Given the description of an element on the screen output the (x, y) to click on. 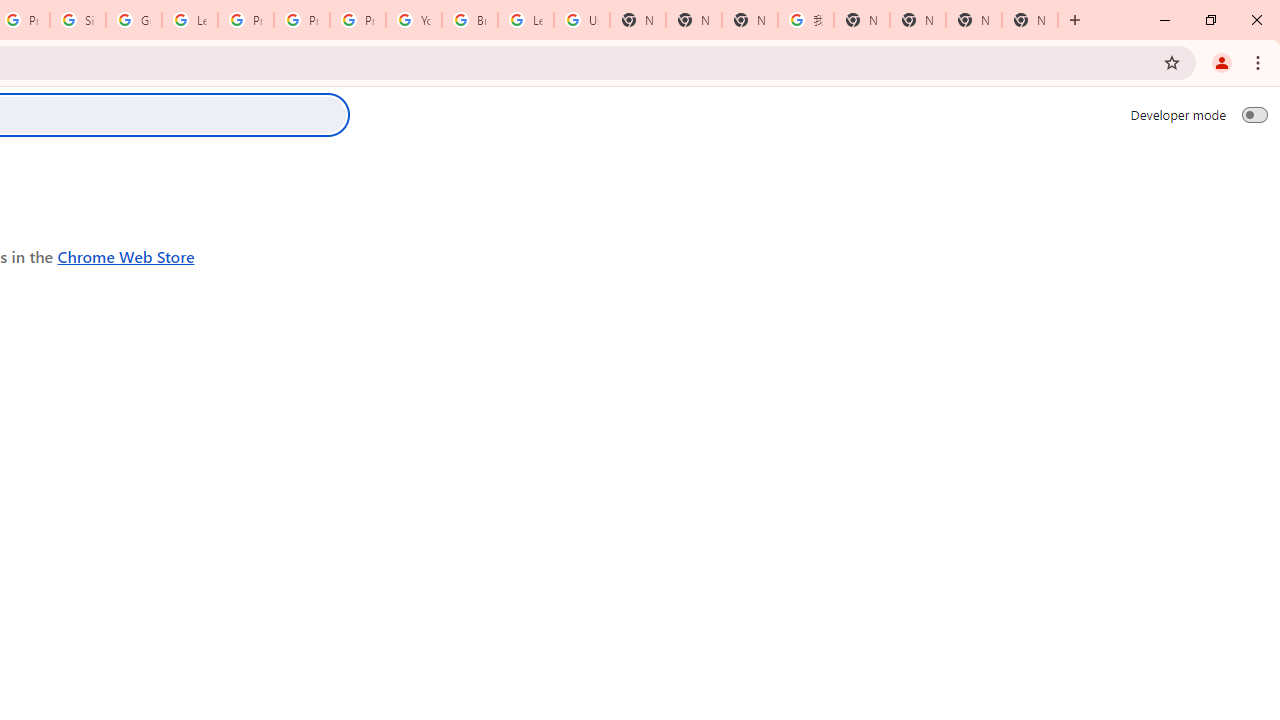
Chrome Web Store (125, 256)
Developer mode (1254, 114)
Browse Chrome as a guest - Computer - Google Chrome Help (469, 20)
